Given the description of an element on the screen output the (x, y) to click on. 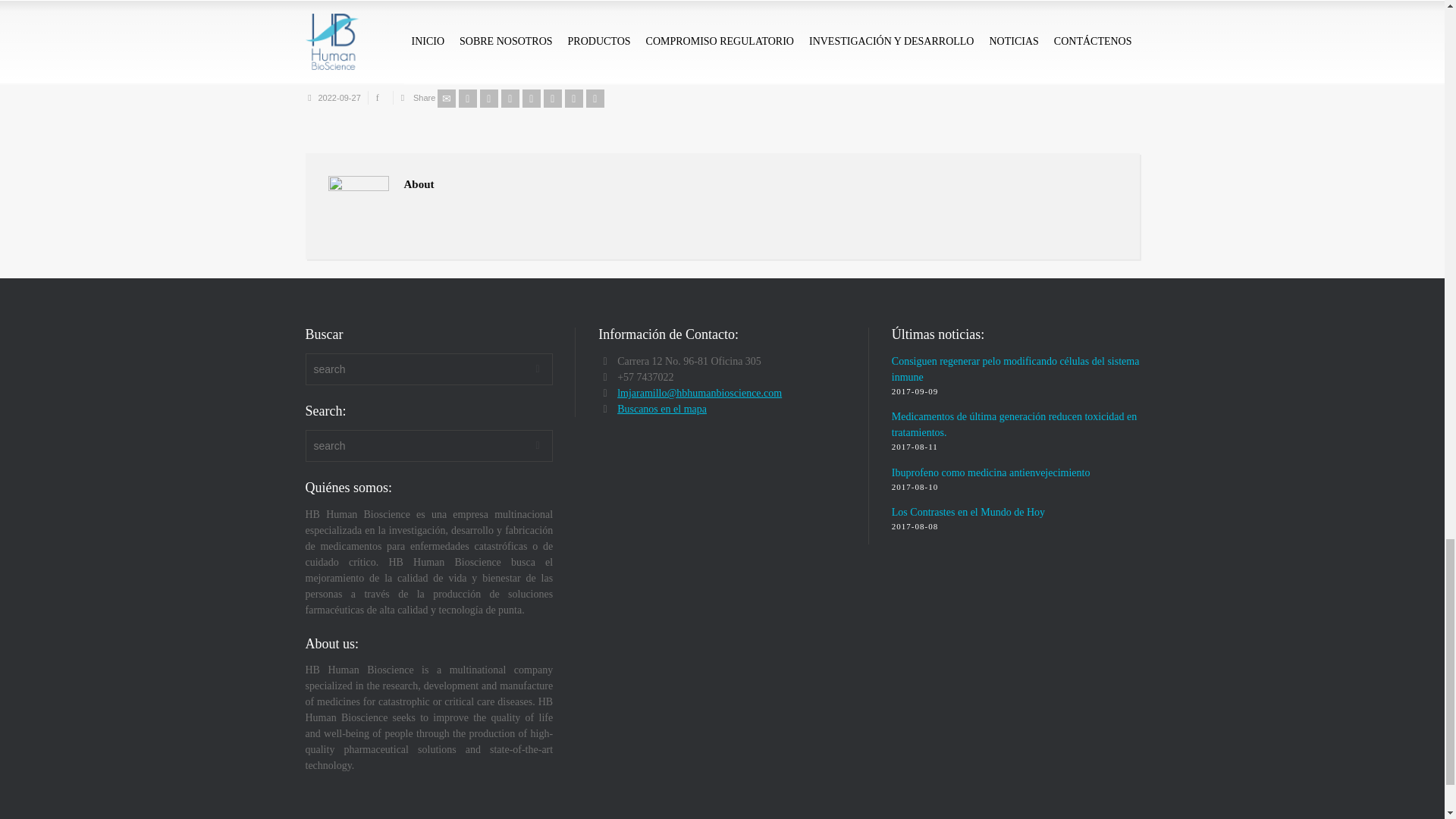
Vkontakte (595, 98)
Los Contrastes en el Mundo de Hoy (968, 511)
Ibuprofeno como medicina antienvejecimiento (990, 472)
Email (446, 98)
Buscanos en el mapa (661, 408)
Twitter (467, 98)
Pinterest (531, 98)
Facebook (488, 98)
Linkedin (573, 98)
Buscanos en el mapa (661, 408)
